Given the description of an element on the screen output the (x, y) to click on. 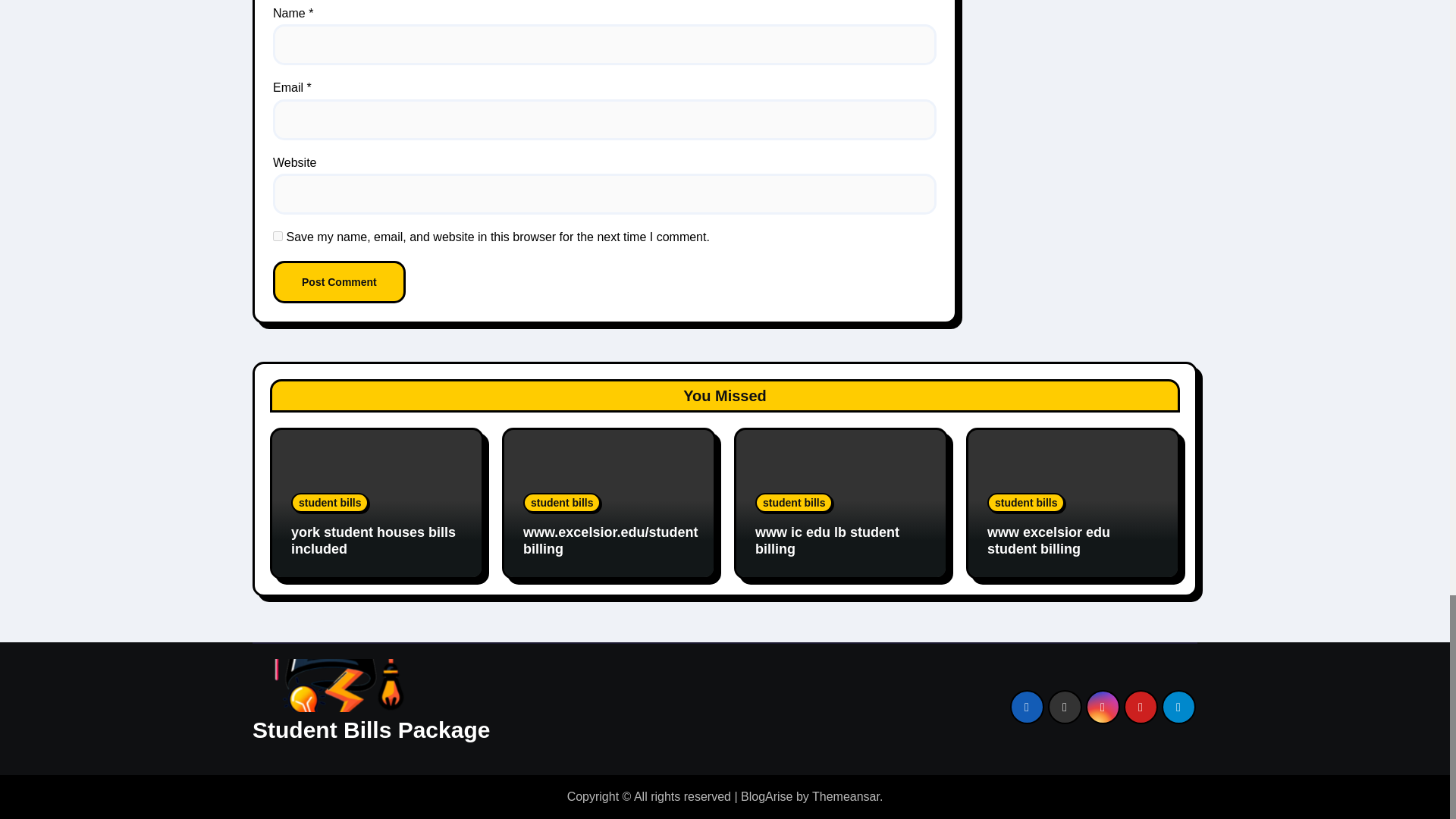
Permalink to: www ic edu lb student billing (827, 540)
Permalink to: www excelsior edu student billing (1048, 540)
Post Comment (339, 282)
Permalink to: york student houses bills included (373, 540)
yes (277, 235)
